Given the description of an element on the screen output the (x, y) to click on. 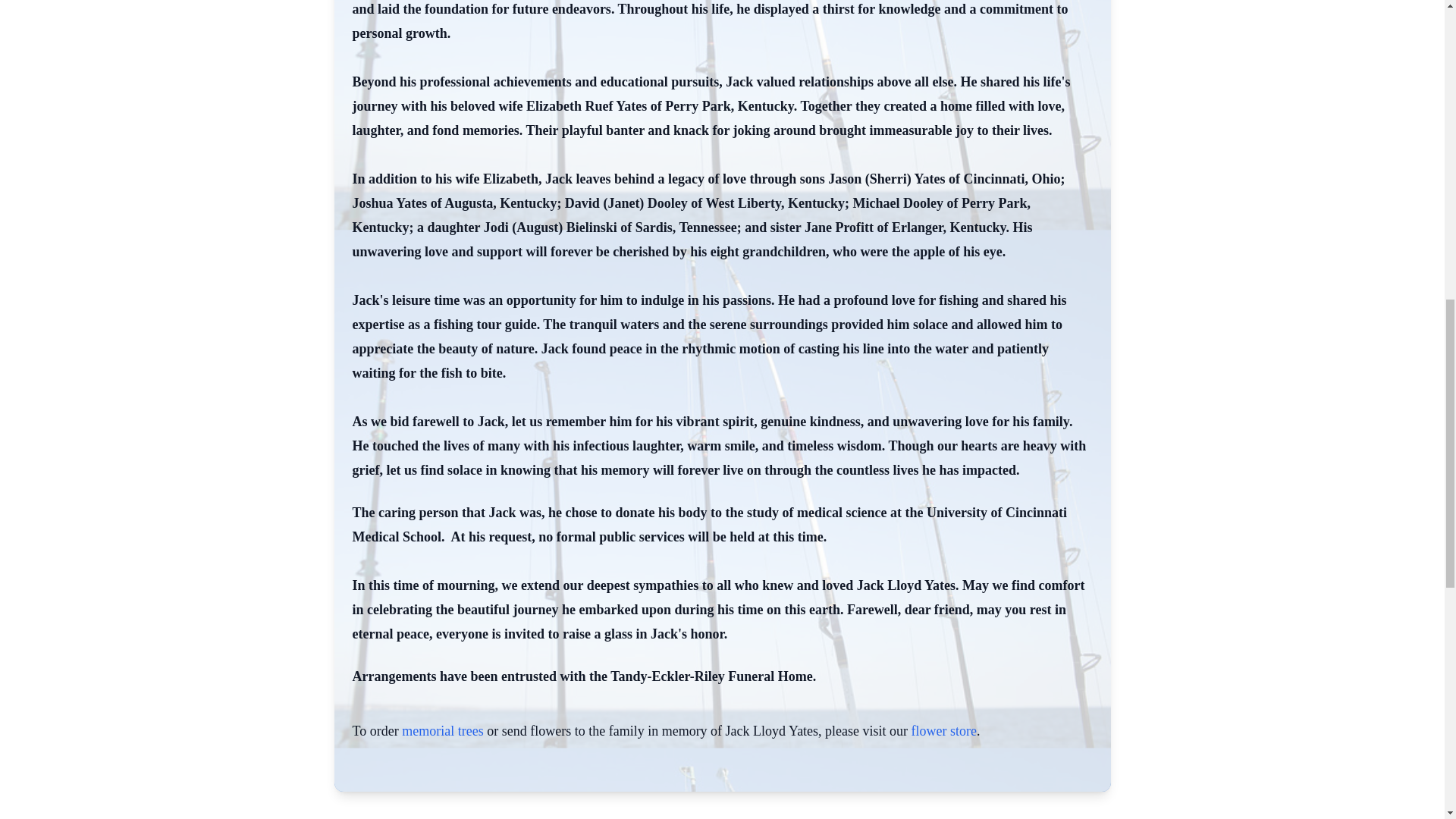
memorial trees (442, 730)
flower store (943, 730)
